Given the description of an element on the screen output the (x, y) to click on. 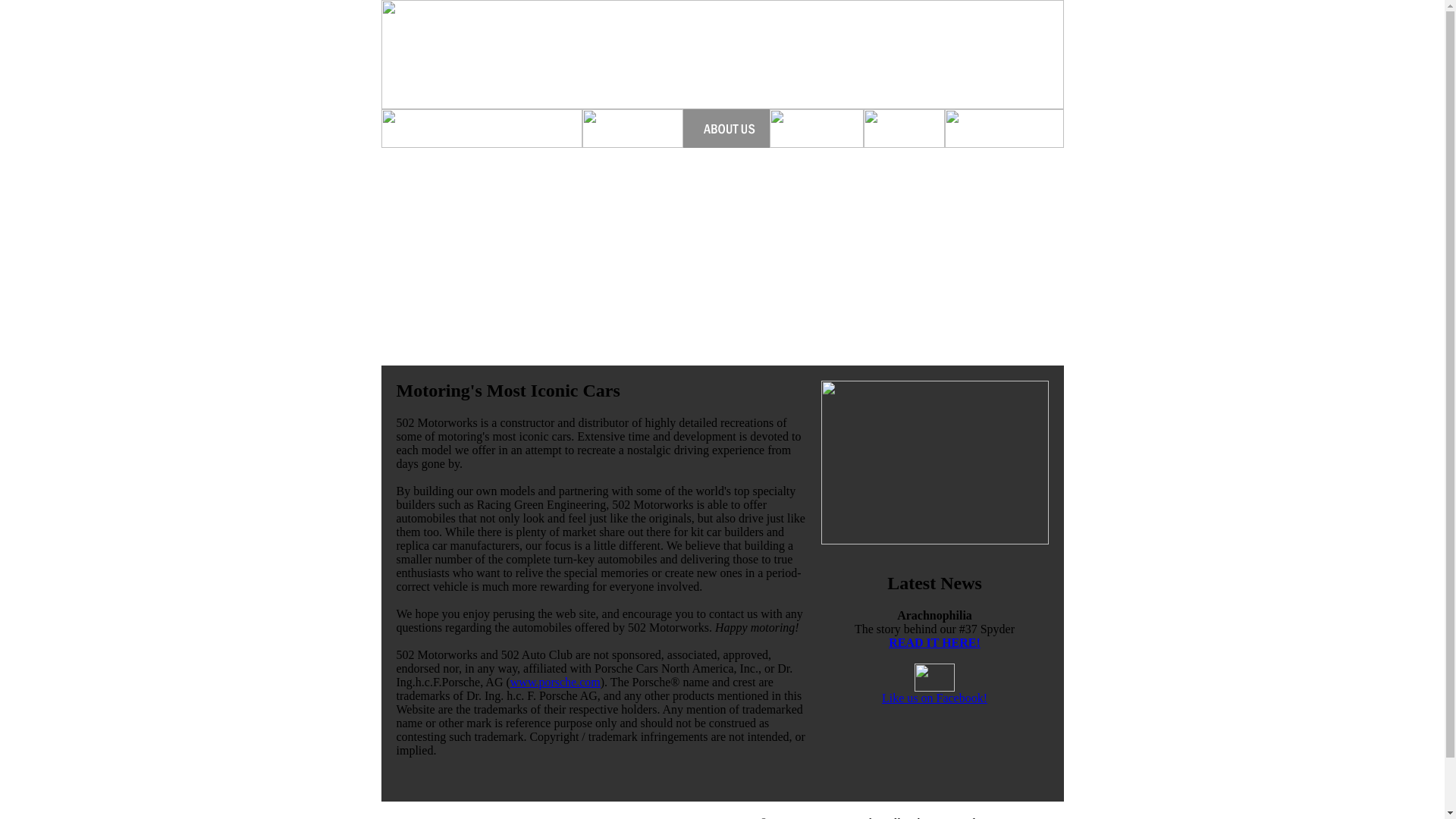
www.porsche.com (555, 681)
Like us on Facebook! (934, 692)
READ IT HERE! (933, 642)
